Given the description of an element on the screen output the (x, y) to click on. 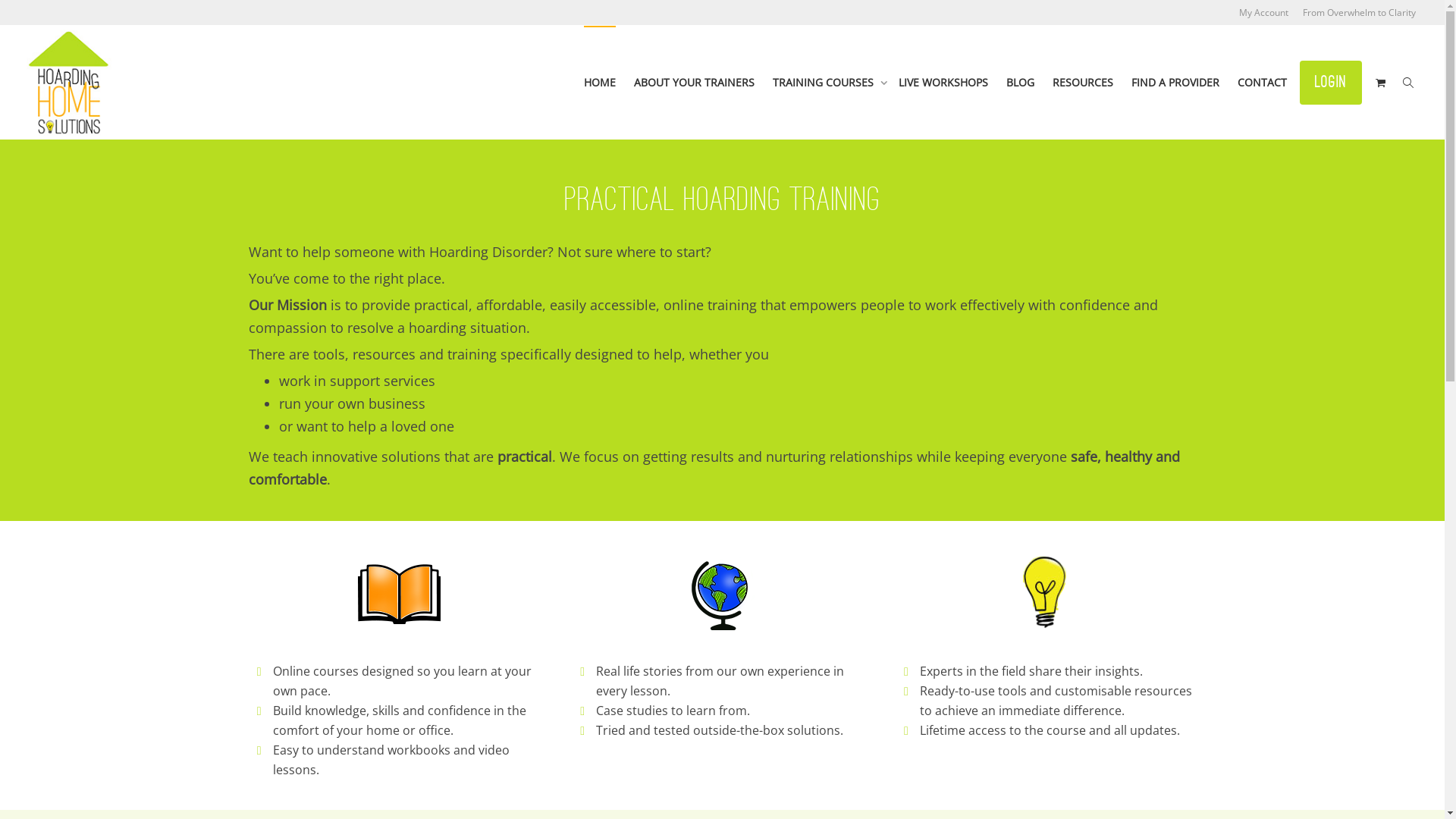
Image-for-Favicon Element type: hover (1045, 592)
Out in the real world Element type: hover (721, 592)
LOGIN Element type: text (1330, 81)
LIVE WORKSHOPS Element type: text (943, 82)
Learning Exercise Element type: hover (398, 592)
My Account Element type: text (1263, 12)
ABOUT YOUR TRAINERS Element type: text (693, 82)
FIND A PROVIDER Element type: text (1175, 82)
CONTACT Element type: text (1261, 82)
Hoarding Home Solutions Element type: hover (68, 82)
View cart Element type: hover (1379, 82)
HOME Element type: text (599, 82)
TRAINING COURSES Element type: text (826, 82)
BLOG Element type: text (1020, 82)
RESOURCES Element type: text (1082, 82)
From Overwhelm to Clarity Element type: text (1358, 12)
